Given the description of an element on the screen output the (x, y) to click on. 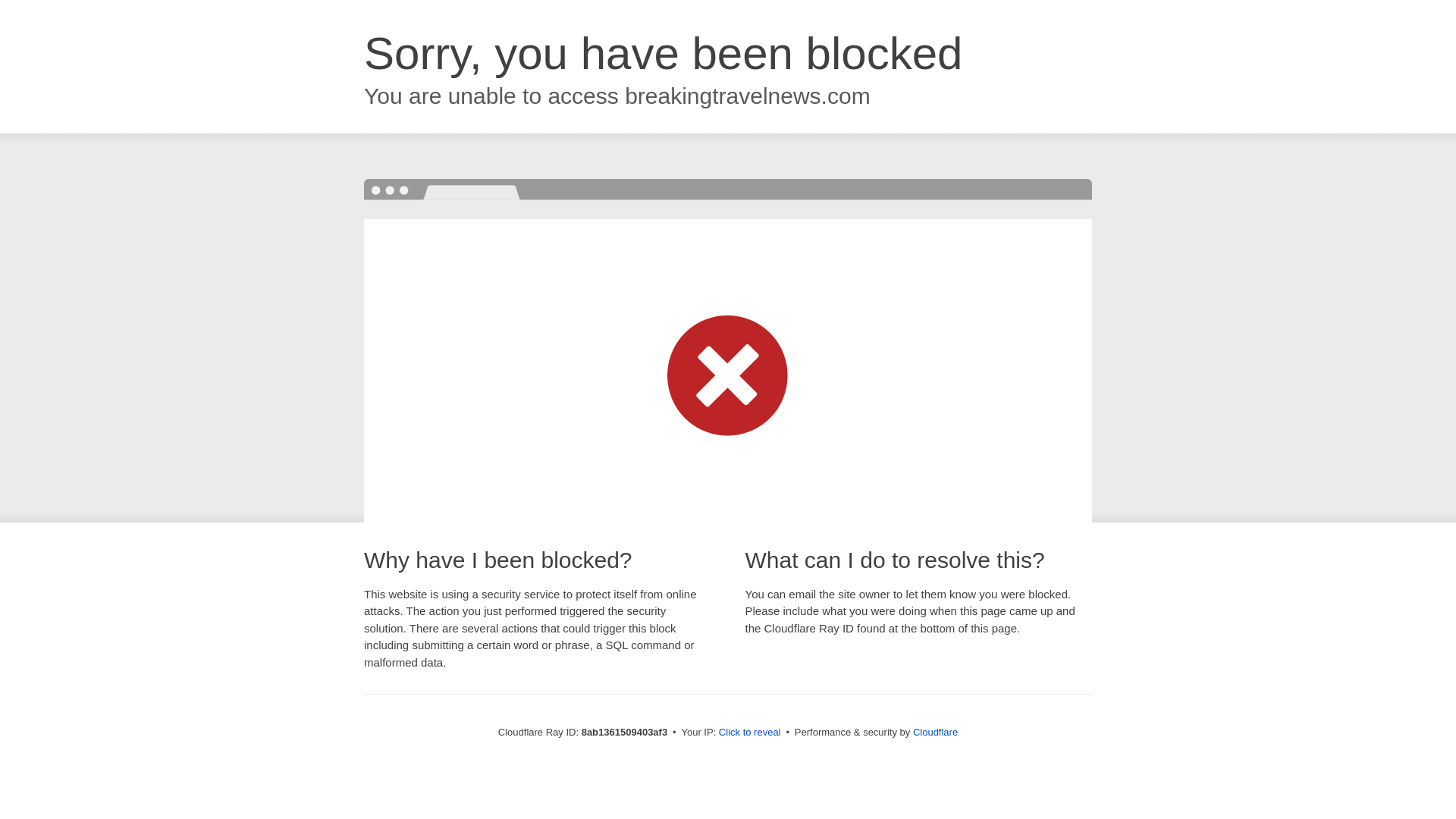
Click to reveal (749, 732)
Cloudflare (935, 731)
